Given the description of an element on the screen output the (x, y) to click on. 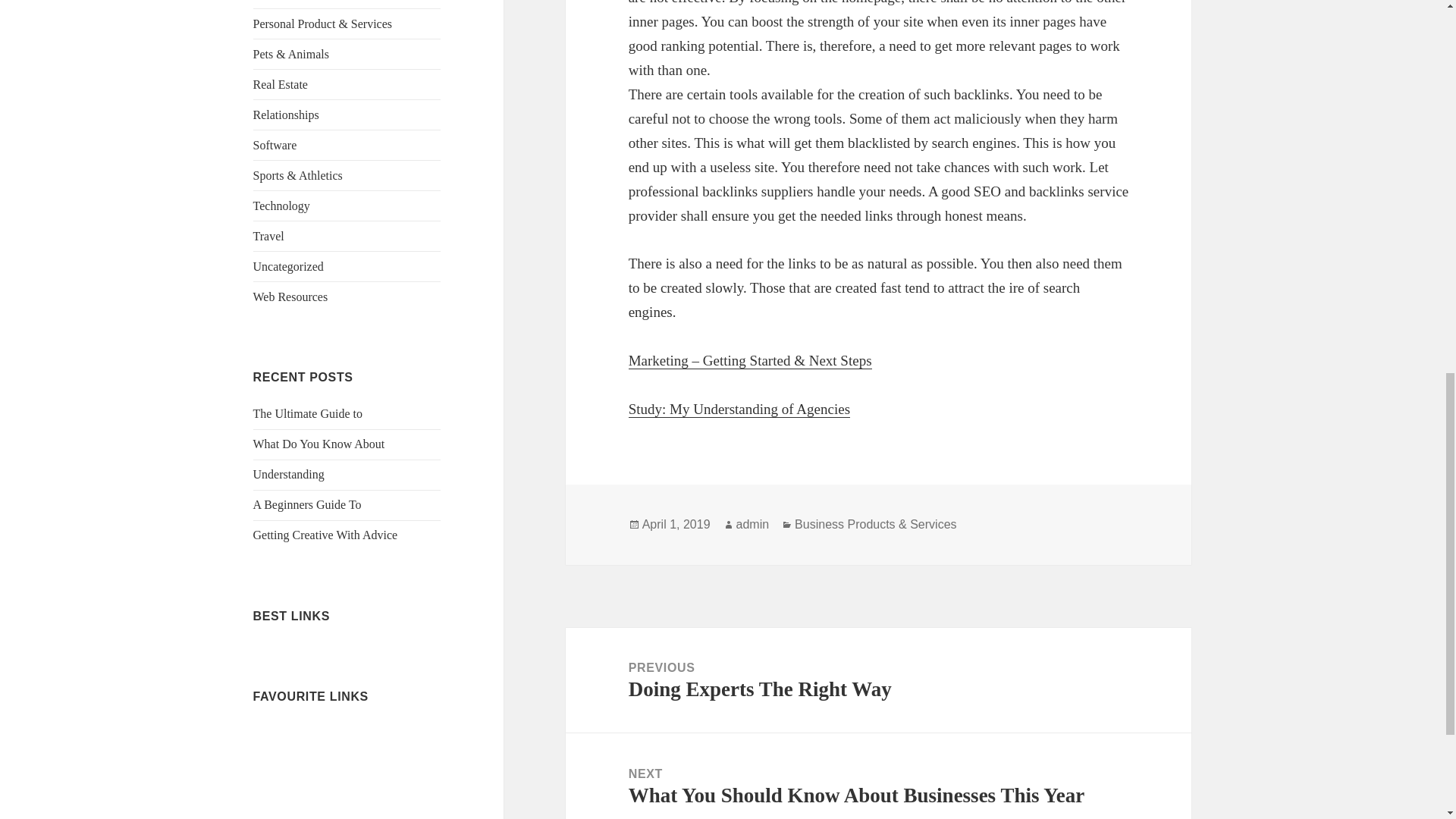
Real Estate (280, 83)
The Ultimate Guide to (307, 413)
Uncategorized (288, 266)
A Beginners Guide To (307, 504)
What Do You Know About (319, 443)
Travel (268, 236)
admin (753, 524)
Understanding (288, 473)
Study: My Understanding of Agencies (739, 409)
Web Resources (291, 296)
